Given the description of an element on the screen output the (x, y) to click on. 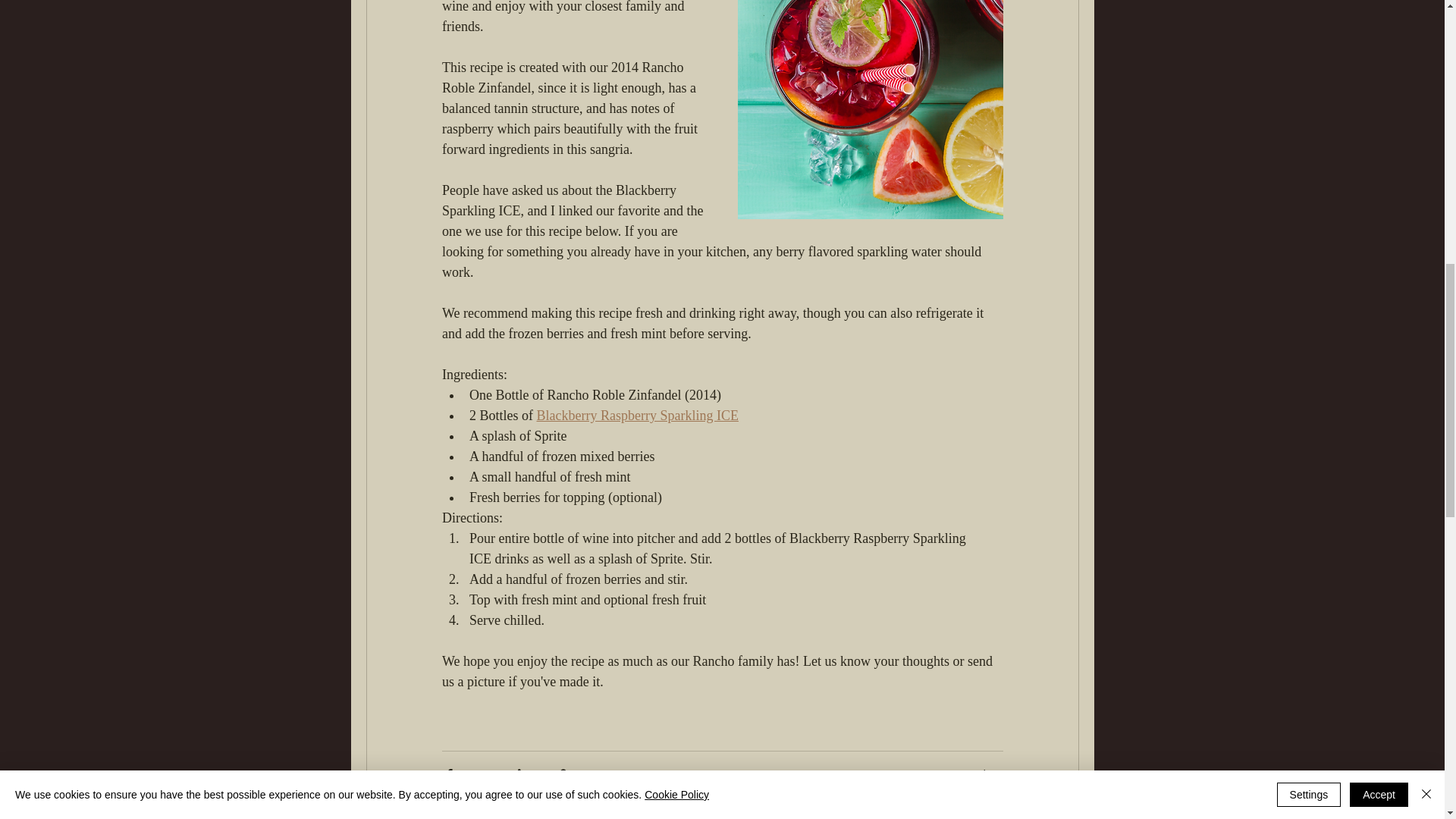
Blackberry Raspberry Sparkling ICE (636, 415)
Recipes (983, 773)
